Given the description of an element on the screen output the (x, y) to click on. 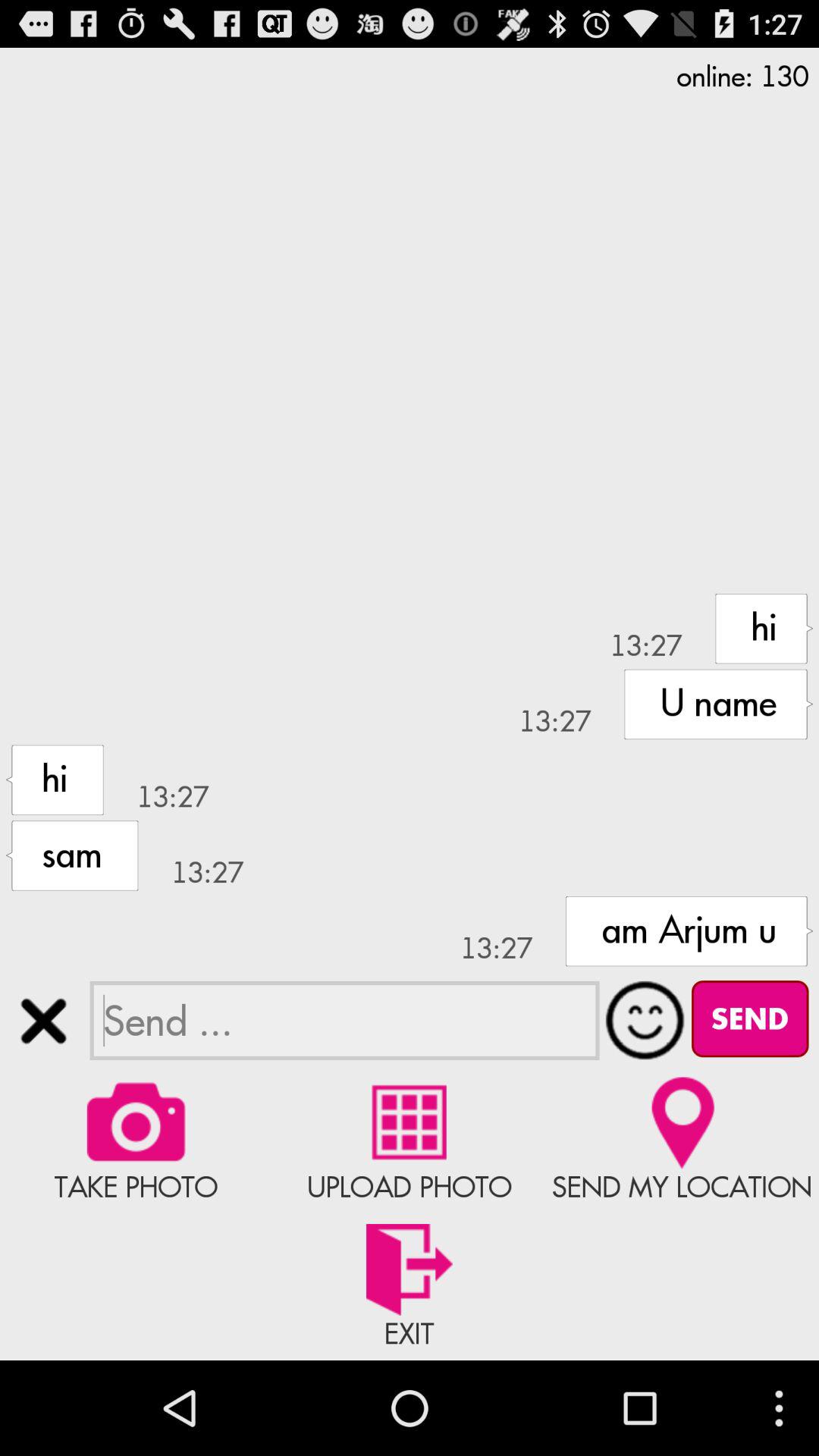
expand emoji menu (645, 1020)
